Given the description of an element on the screen output the (x, y) to click on. 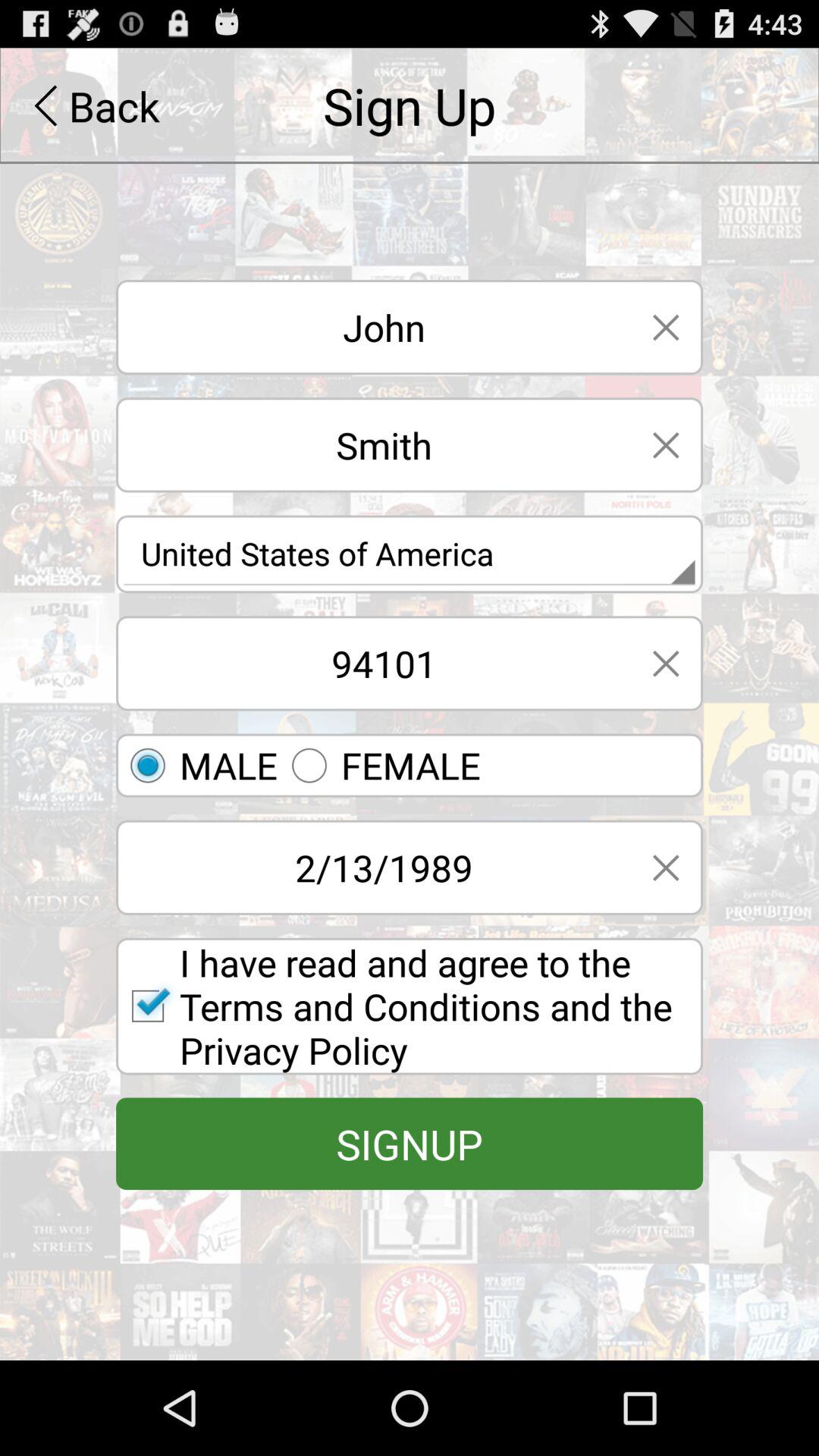
go to exit (665, 663)
